Given the description of an element on the screen output the (x, y) to click on. 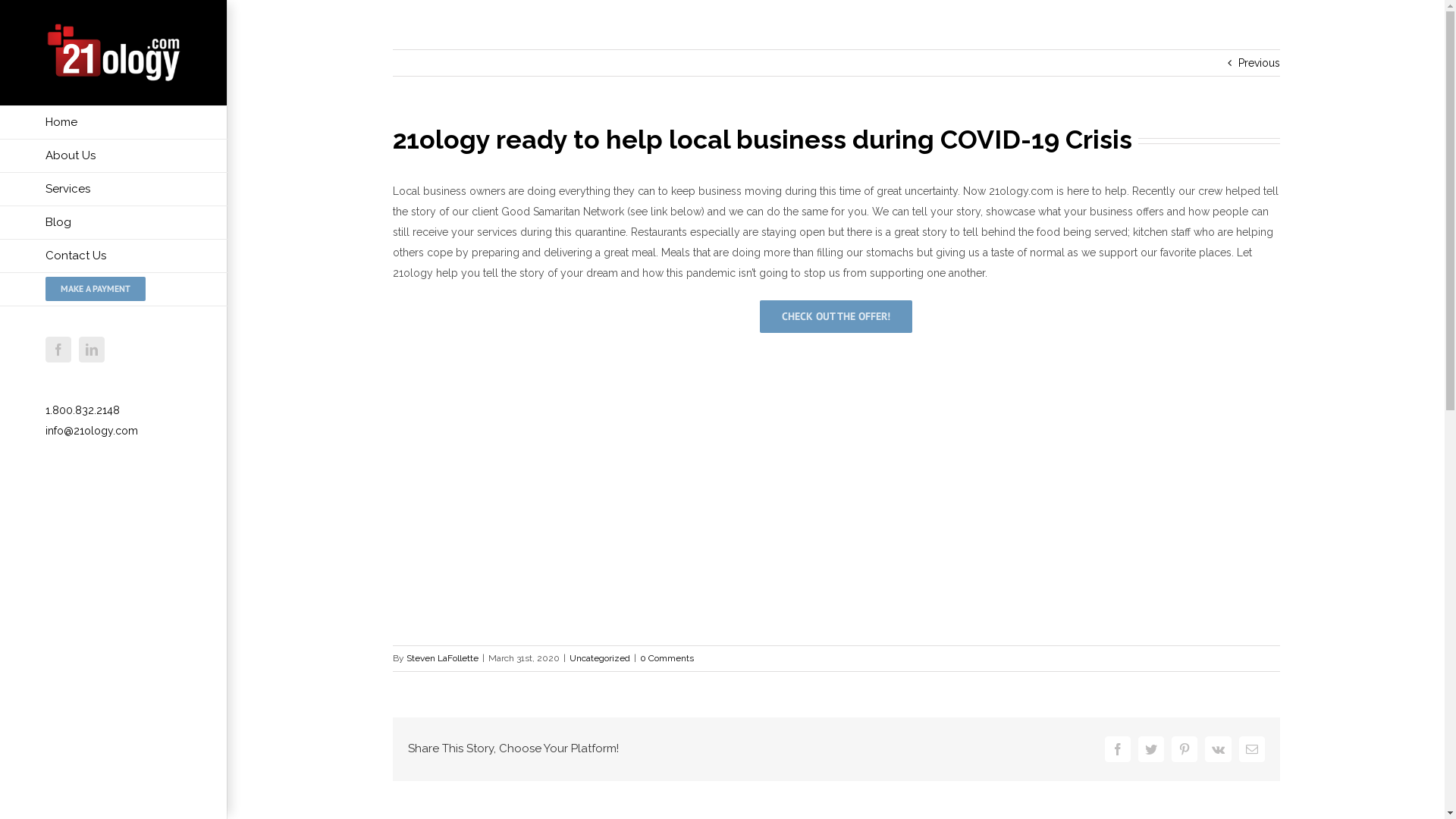
1.800.832.2148 Element type: text (82, 410)
About Us Element type: text (113, 155)
0 Comments Element type: text (666, 657)
Services Element type: text (113, 189)
Vk Element type: text (1217, 749)
Blog Element type: text (113, 222)
Uncategorized Element type: text (598, 657)
Email Element type: text (1251, 749)
Previous Element type: text (1258, 62)
Home Element type: text (113, 122)
Twitter Element type: text (1150, 749)
Pinterest Element type: text (1183, 749)
info@21ology.com Element type: text (91, 430)
Steven LaFollette Element type: text (442, 657)
LinkedIn Element type: text (91, 349)
MAKE A PAYMENT Element type: text (113, 289)
CHECK OUT THE OFFER! Element type: text (835, 316)
YouTube video player Element type: hover (835, 478)
Contact Us Element type: text (113, 256)
Facebook Element type: text (58, 349)
Facebook Element type: text (1116, 749)
